Given the description of an element on the screen output the (x, y) to click on. 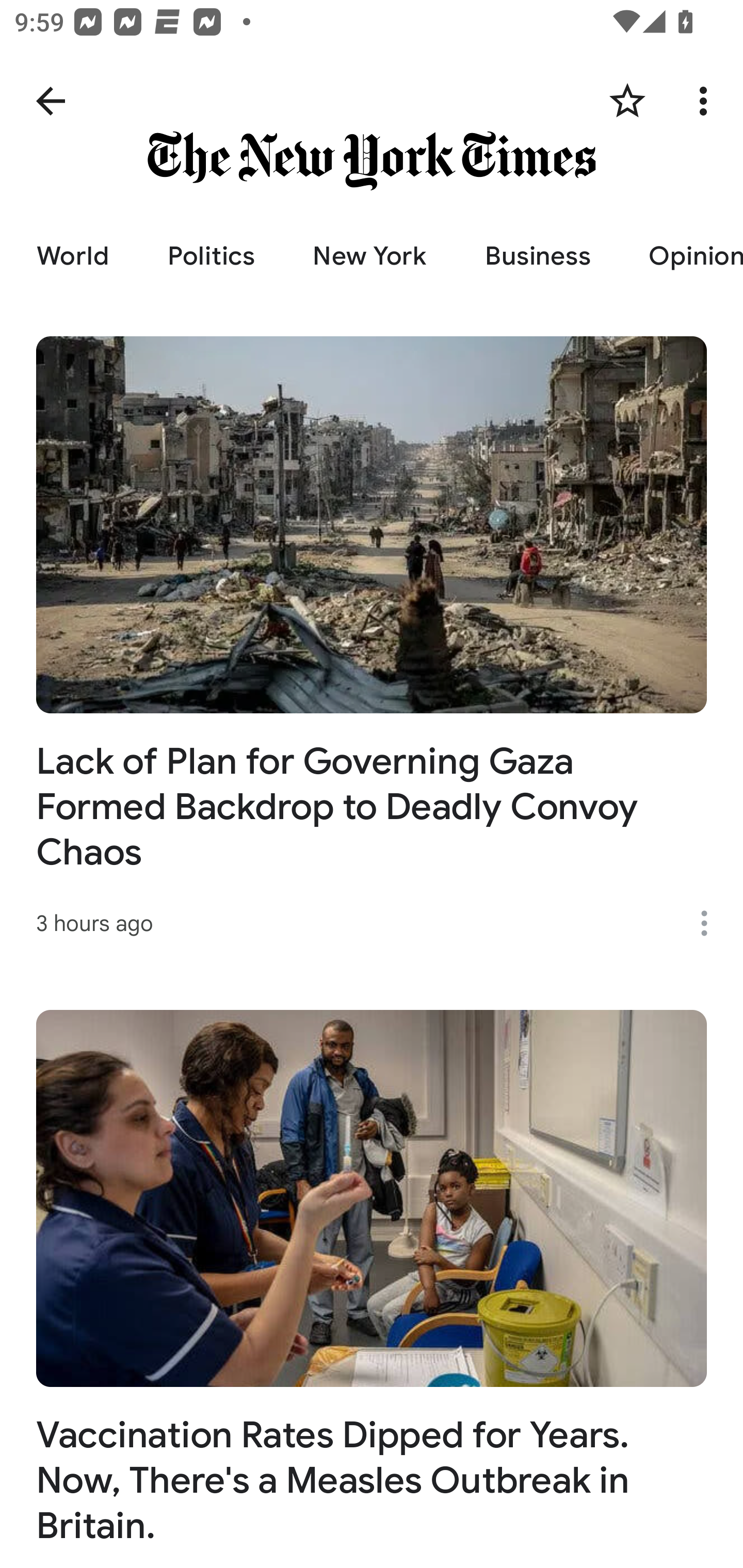
Navigate up (50, 101)
Follow (626, 101)
More options (706, 101)
World (72, 256)
Politics (210, 256)
New York (369, 256)
Business (537, 256)
Opinion (681, 256)
More options (711, 923)
